Given the description of an element on the screen output the (x, y) to click on. 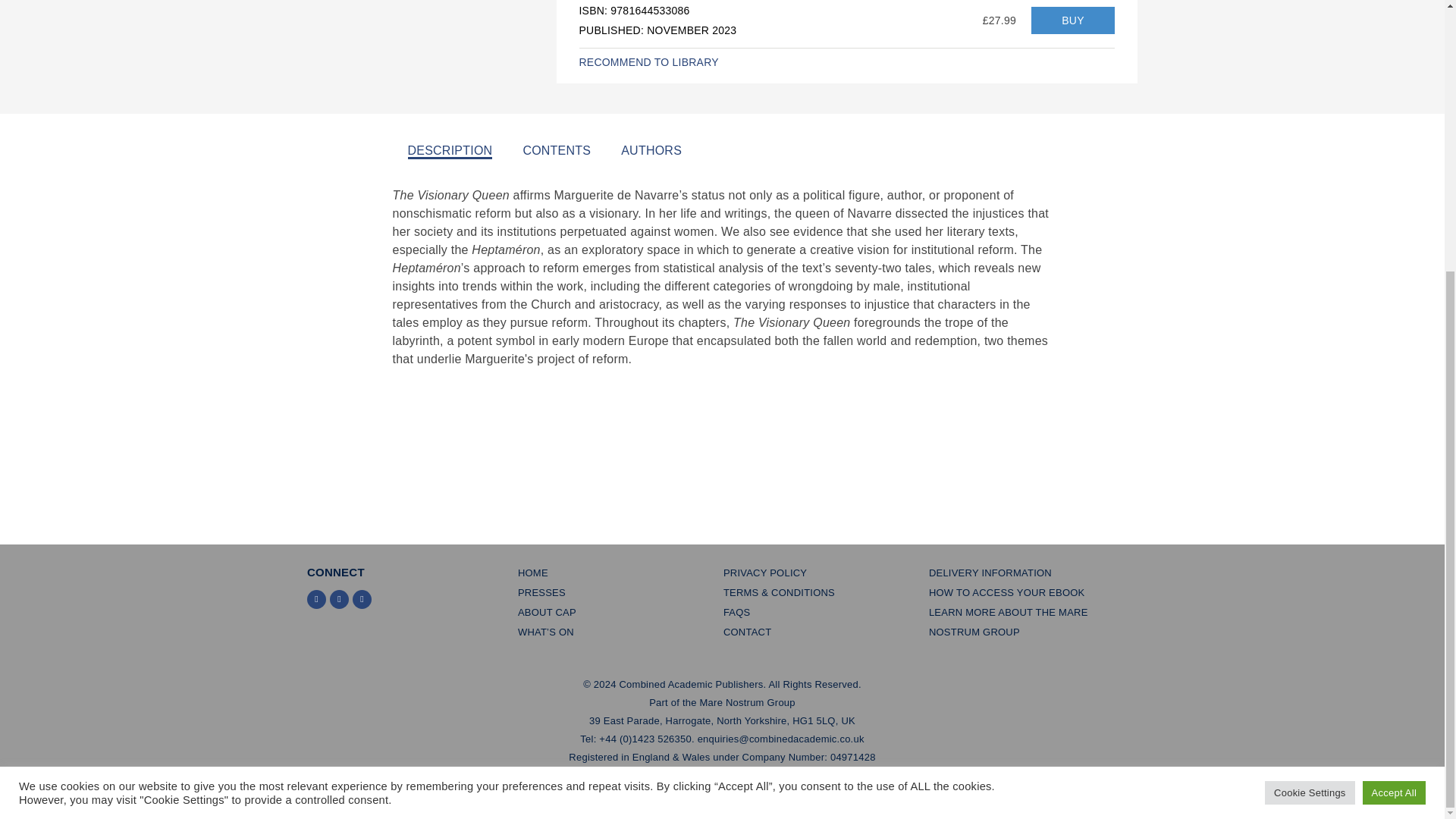
Follow us on Facebook (339, 599)
Recommend to Library (649, 61)
Follow us on Instagram (361, 599)
The Visionary Queen (1072, 20)
